Given the description of an element on the screen output the (x, y) to click on. 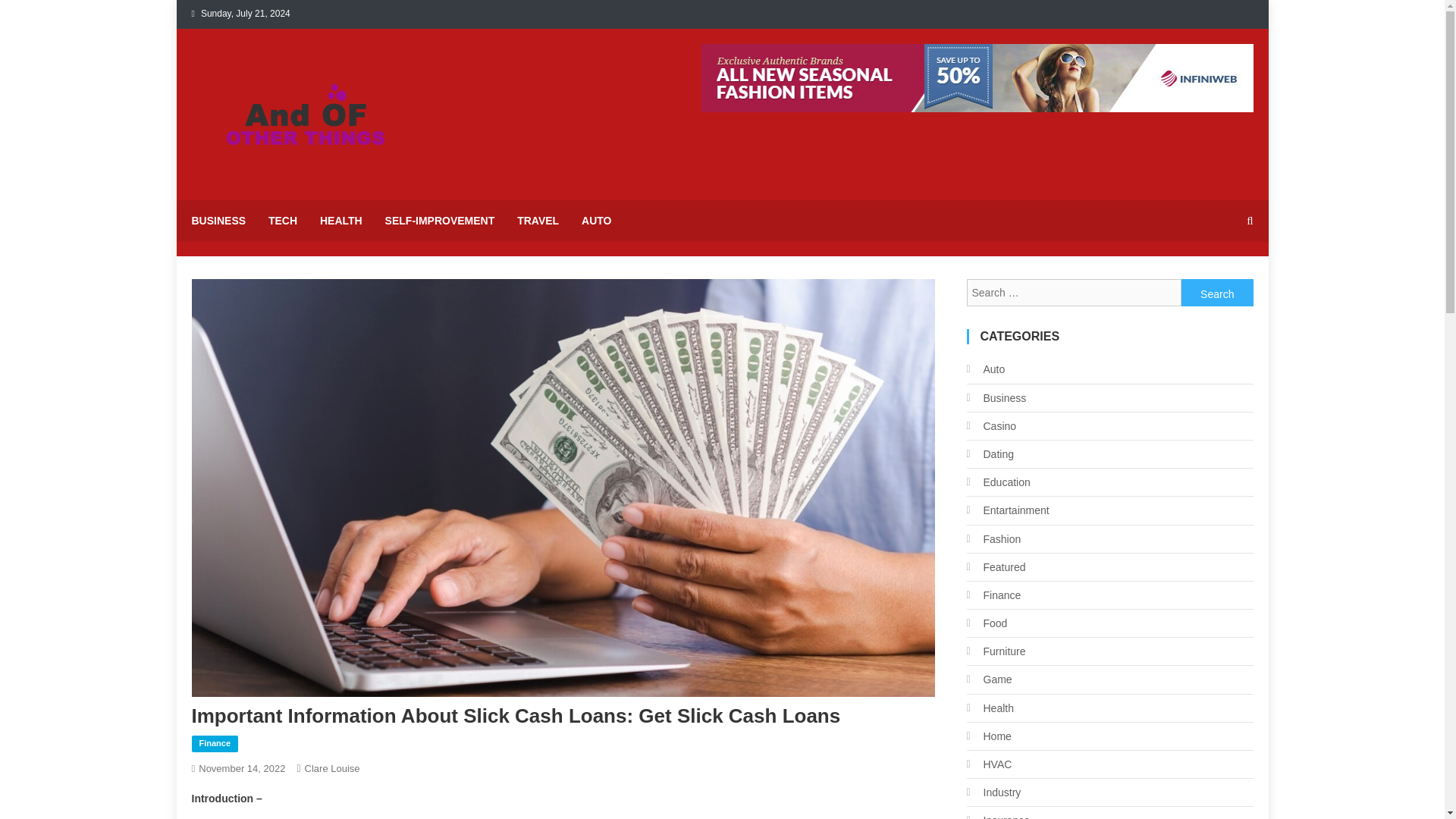
Entartainment (1007, 510)
Education (997, 482)
Auto (985, 369)
HEALTH (341, 219)
SELF-IMPROVEMENT (440, 219)
Featured (995, 567)
Casino (991, 425)
Search (1221, 279)
Search (1216, 292)
Fashion (993, 538)
TRAVEL (537, 219)
Dating (989, 454)
And OF Other Things (313, 185)
November 14, 2022 (241, 767)
Business (996, 397)
